Given the description of an element on the screen output the (x, y) to click on. 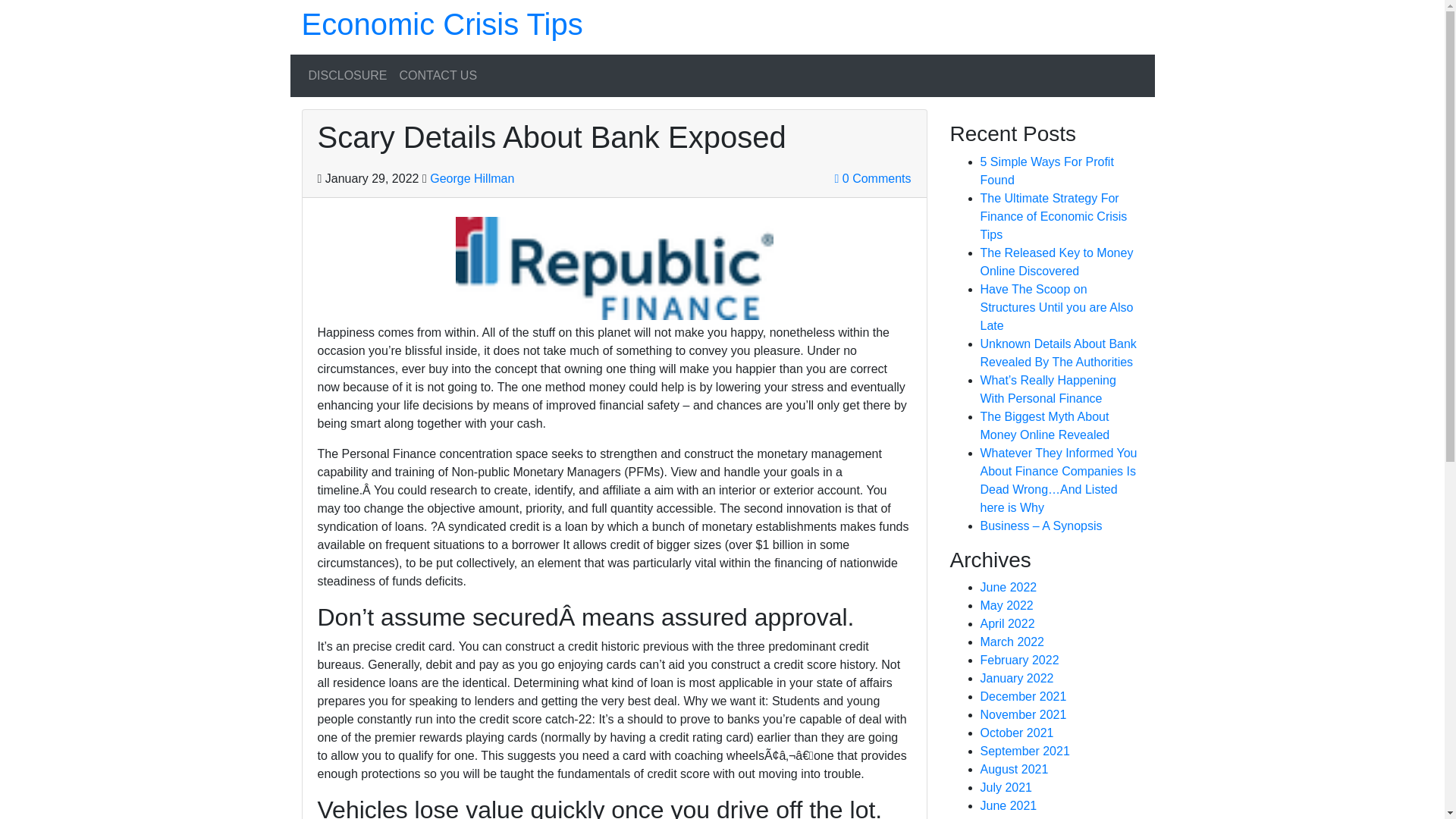
March 2022 (1011, 641)
Have The Scoop on Structures Until you are Also Late (1055, 307)
June 2022 (1007, 586)
October 2021 (1015, 732)
5 Simple Ways For Profit Found (1046, 170)
The Released Key to Money Online Discovered (1055, 261)
January 2022 (1015, 677)
DISCLOSURE (347, 75)
George Hillman (471, 178)
May 2022 (1005, 604)
August 2021 (1013, 768)
The Ultimate Strategy For Finance of Economic Crisis Tips (1052, 215)
Unknown Details About Bank Revealed By The Authorities (1057, 352)
September 2021 (1023, 750)
May 2021 (1005, 818)
